Given the description of an element on the screen output the (x, y) to click on. 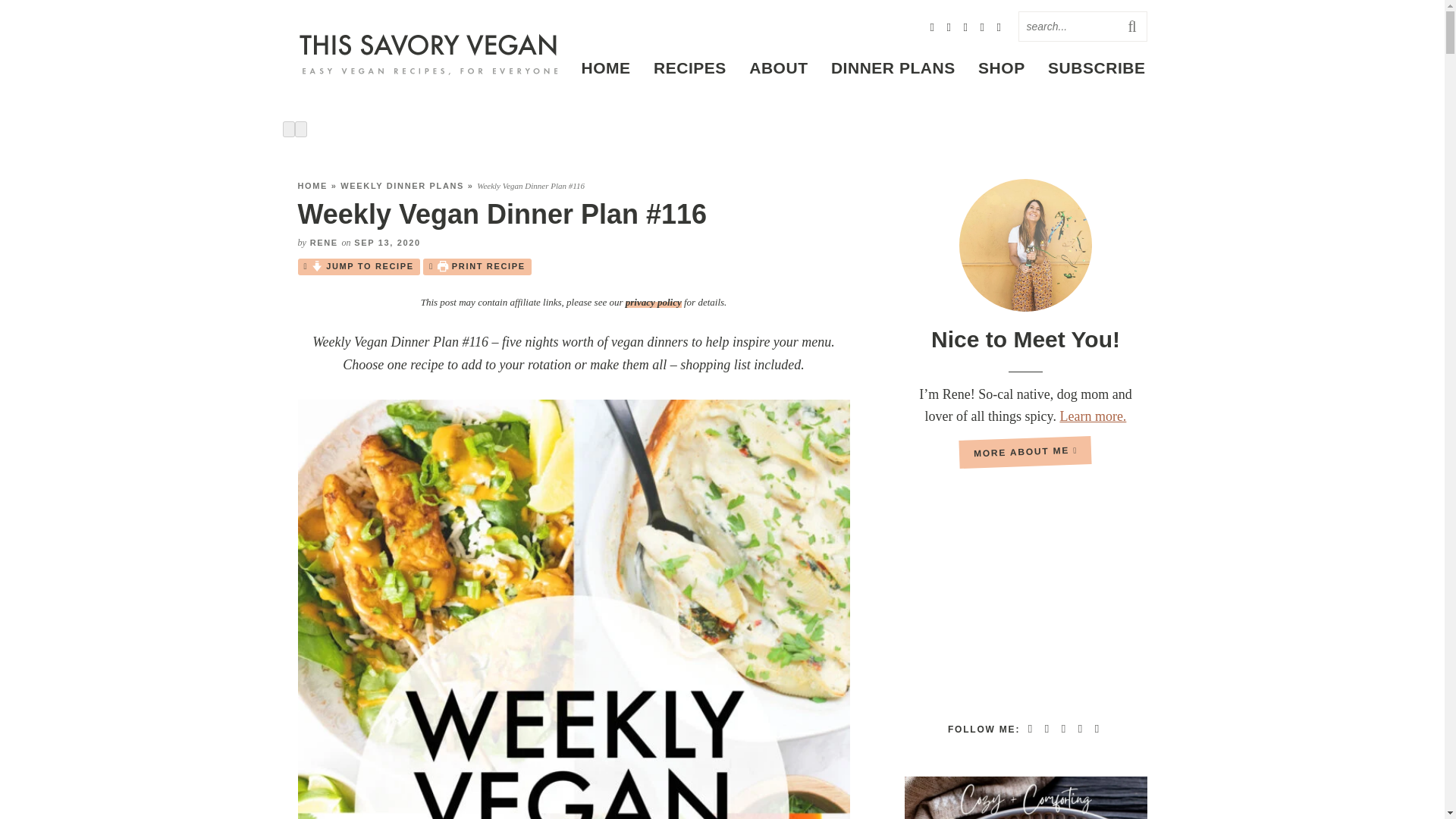
RECIPES (690, 67)
Get Yours Today (1025, 797)
This Savory Vegan (428, 54)
WEEKLY DINNER PLANS (402, 185)
JUMP TO RECIPE (358, 267)
SUBSCRIBE (1096, 67)
HOME (605, 67)
More About Me (1025, 245)
DINNER PLANS (892, 67)
HOME (312, 185)
SHOP (1001, 67)
ABOUT (778, 67)
